Given the description of an element on the screen output the (x, y) to click on. 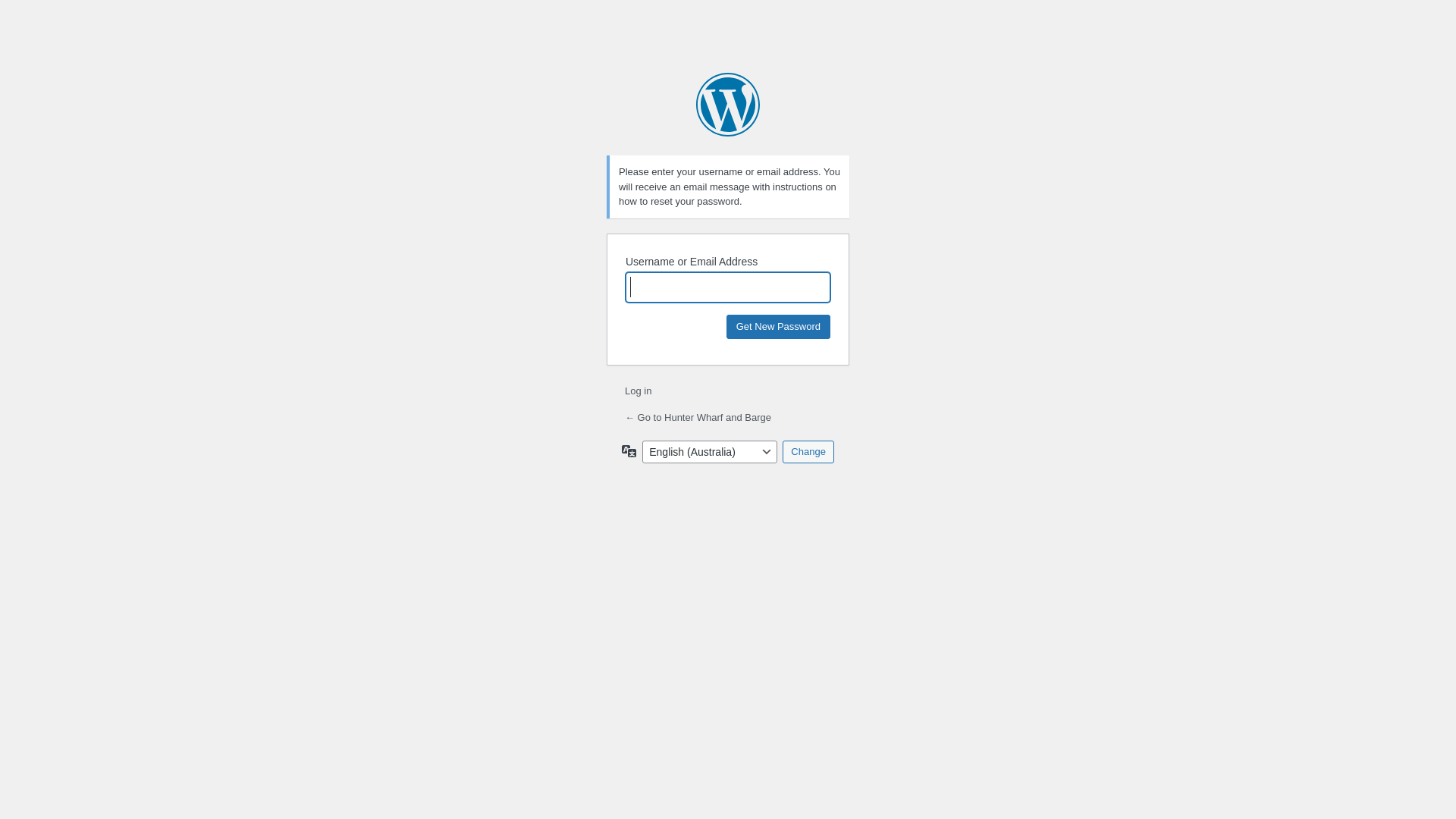
Get New Password Element type: text (778, 325)
Powered by WordPress Element type: text (727, 104)
Log in Element type: text (637, 390)
Change Element type: text (808, 450)
